Given the description of an element on the screen output the (x, y) to click on. 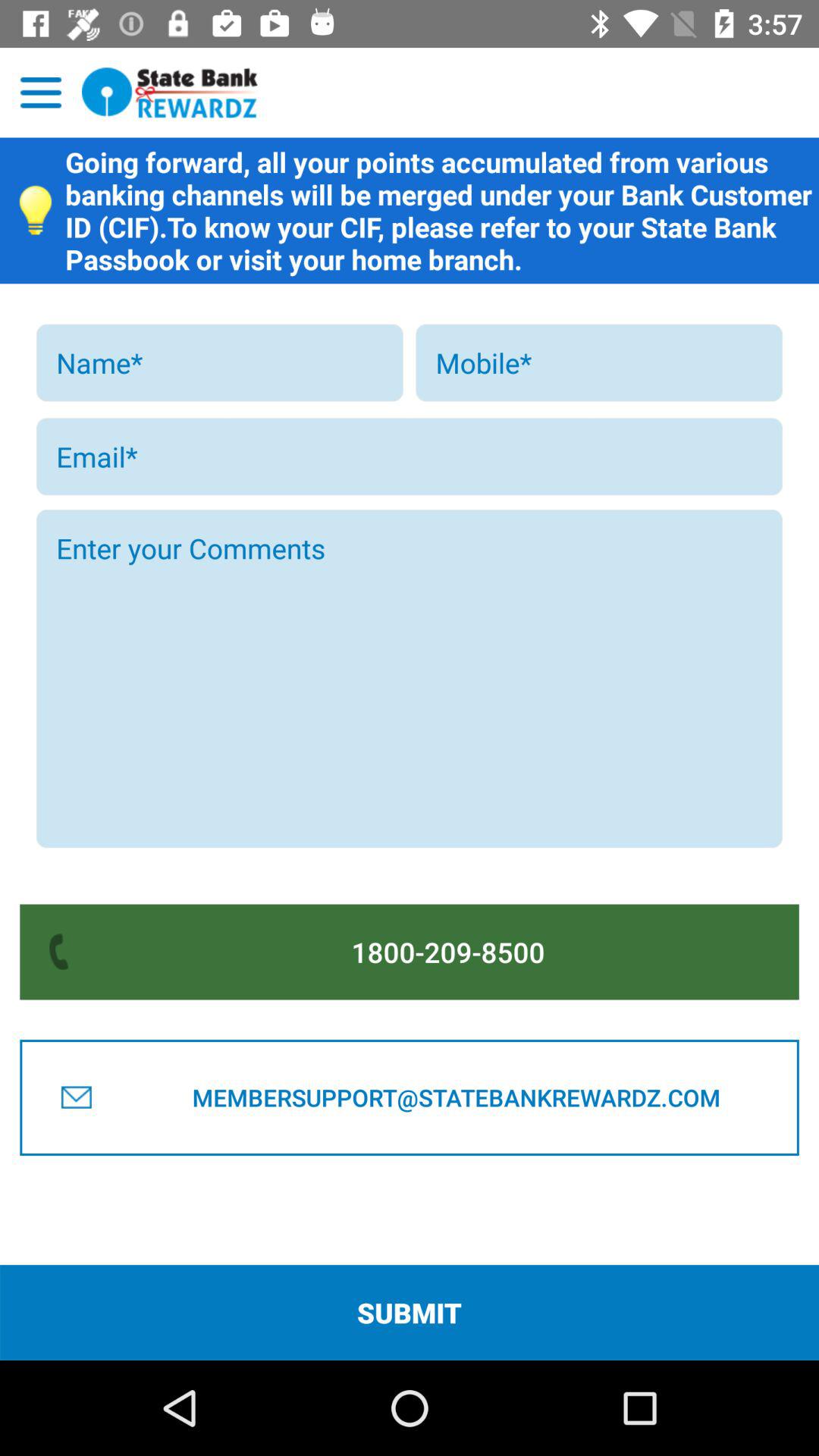
state bank logo (169, 92)
